Given the description of an element on the screen output the (x, y) to click on. 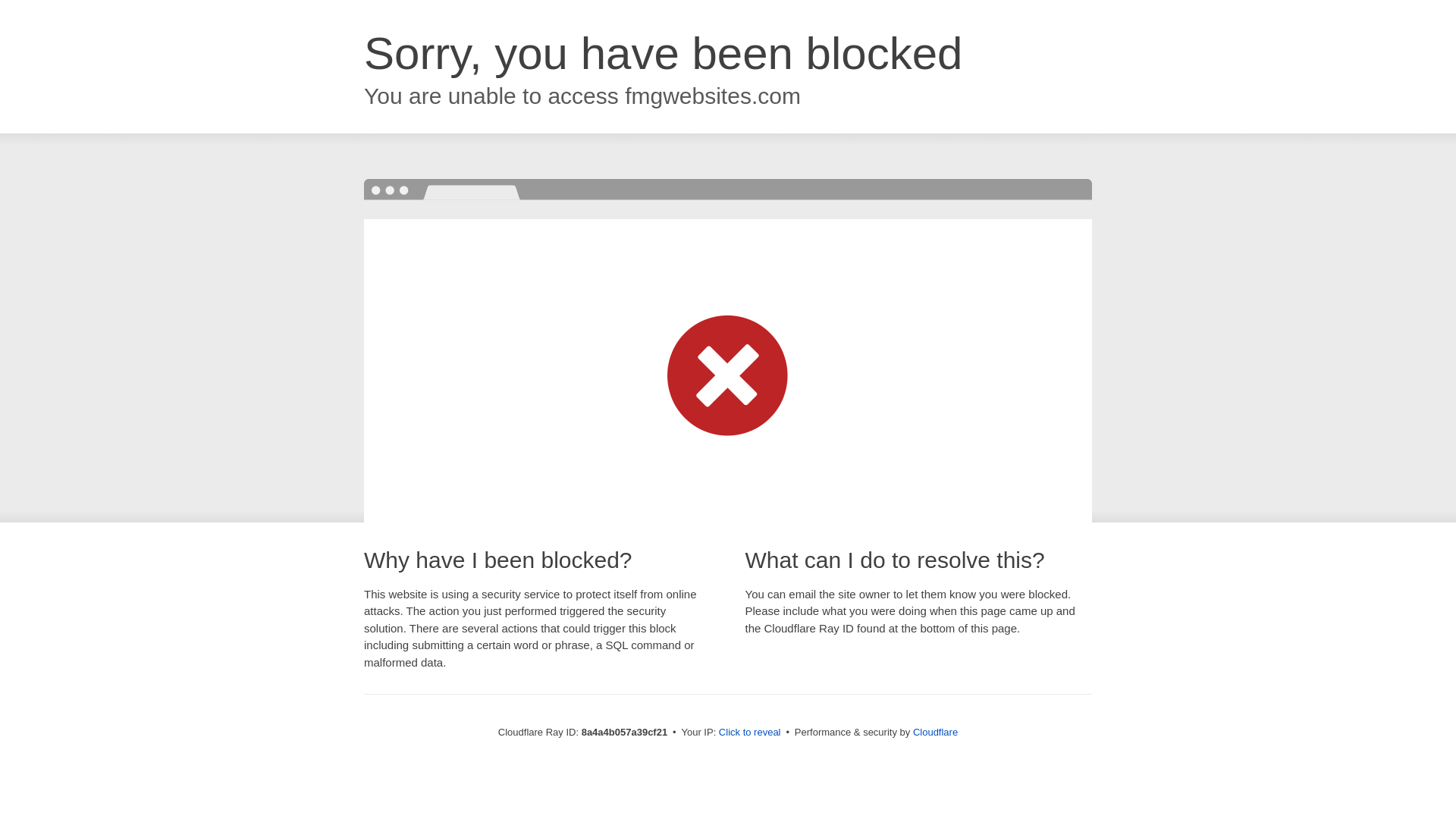
Click to reveal (749, 732)
Cloudflare (935, 731)
